Given the description of an element on the screen output the (x, y) to click on. 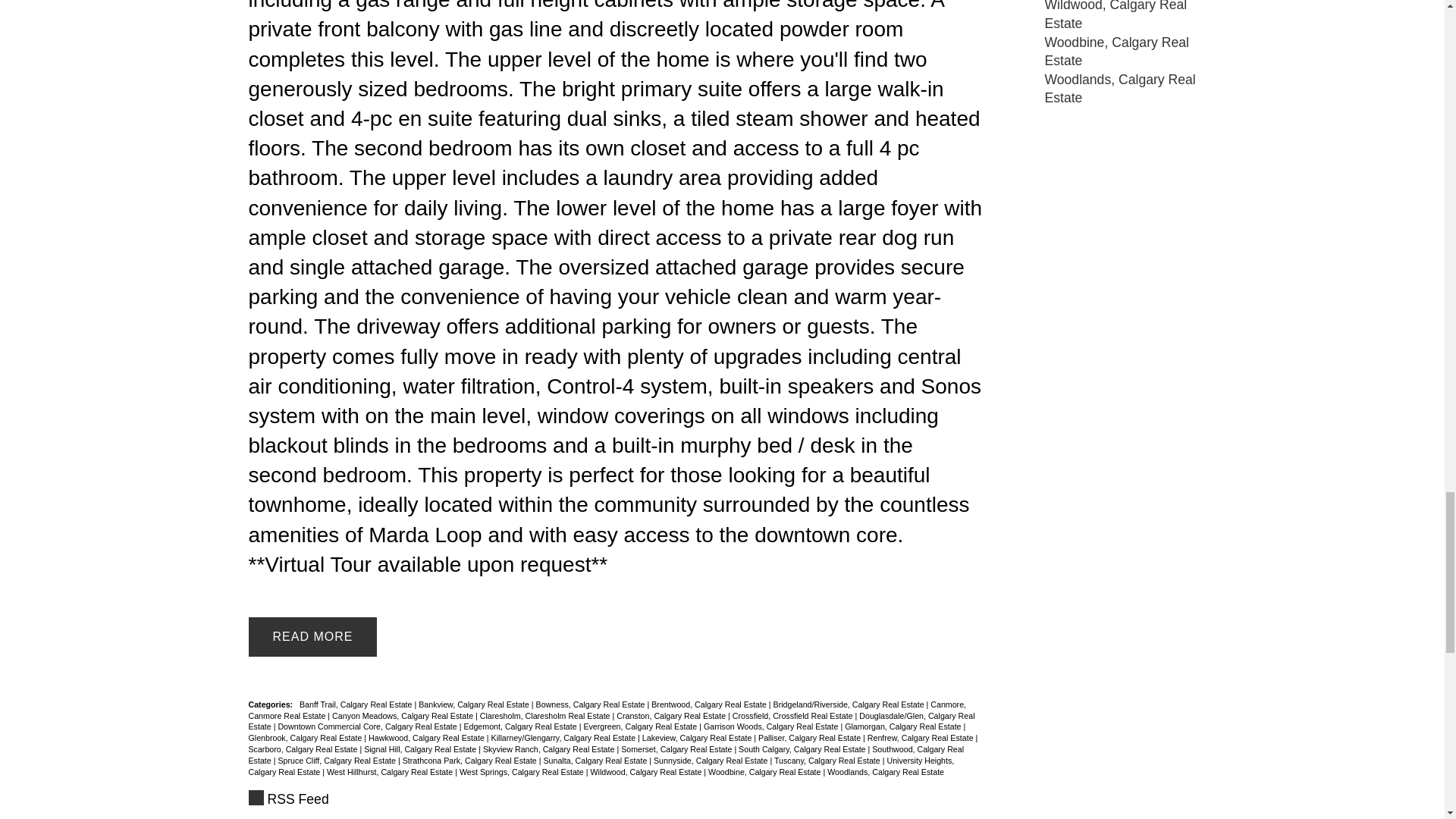
RSS (616, 799)
